Given the description of an element on the screen output the (x, y) to click on. 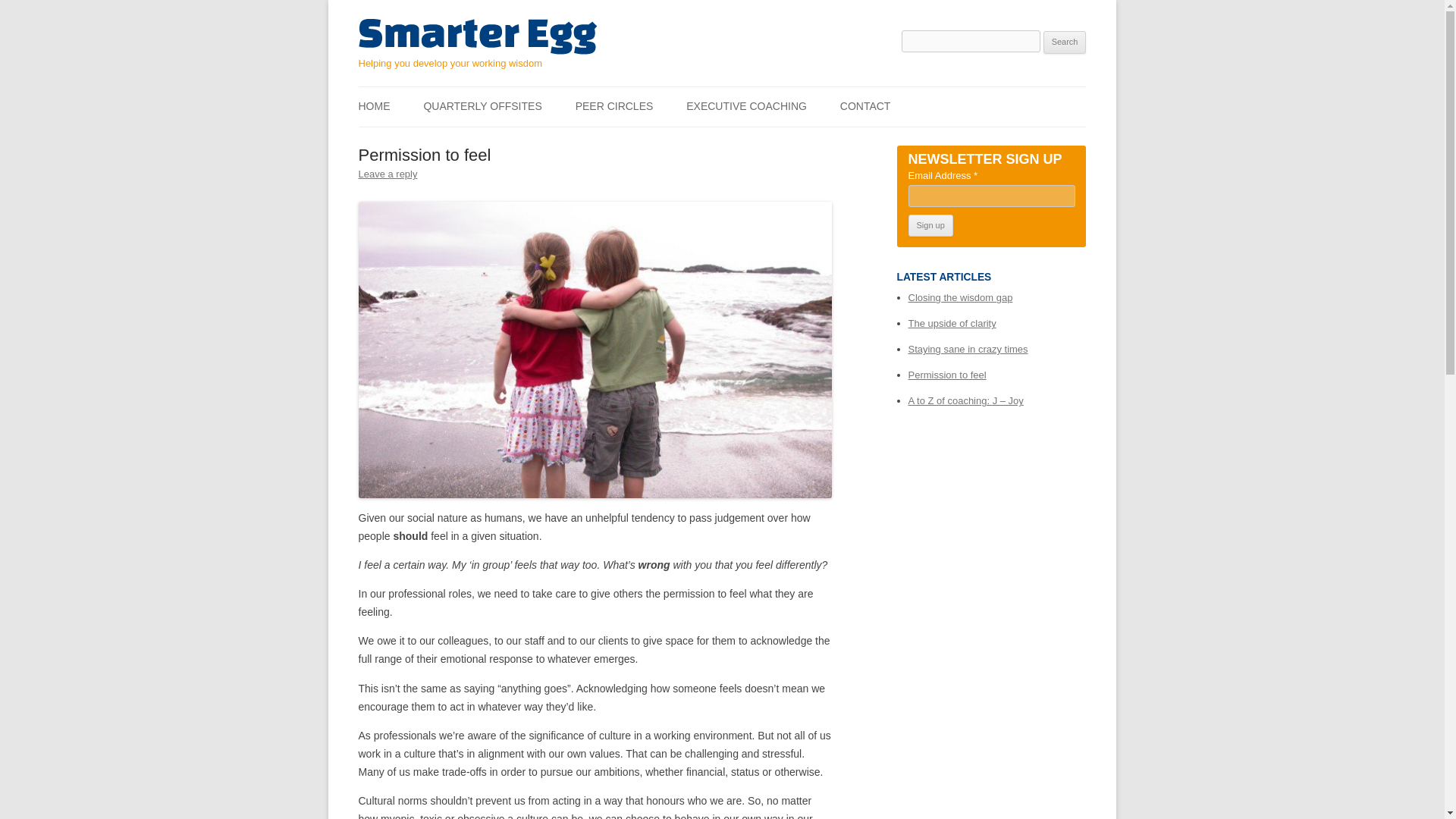
Staying sane in crazy times (967, 348)
PEER CIRCLES (614, 106)
Skip to content (757, 91)
Sign up (930, 225)
Closing the wisdom gap (960, 297)
Sign up (930, 225)
Search (1064, 42)
Smarter Egg (476, 36)
HOME (374, 106)
Skip to content (757, 91)
QUARTERLY OFFSITES (482, 106)
Permission to feel (947, 374)
Leave a reply (387, 173)
CONTACT (865, 106)
Smarter Egg (476, 36)
